Given the description of an element on the screen output the (x, y) to click on. 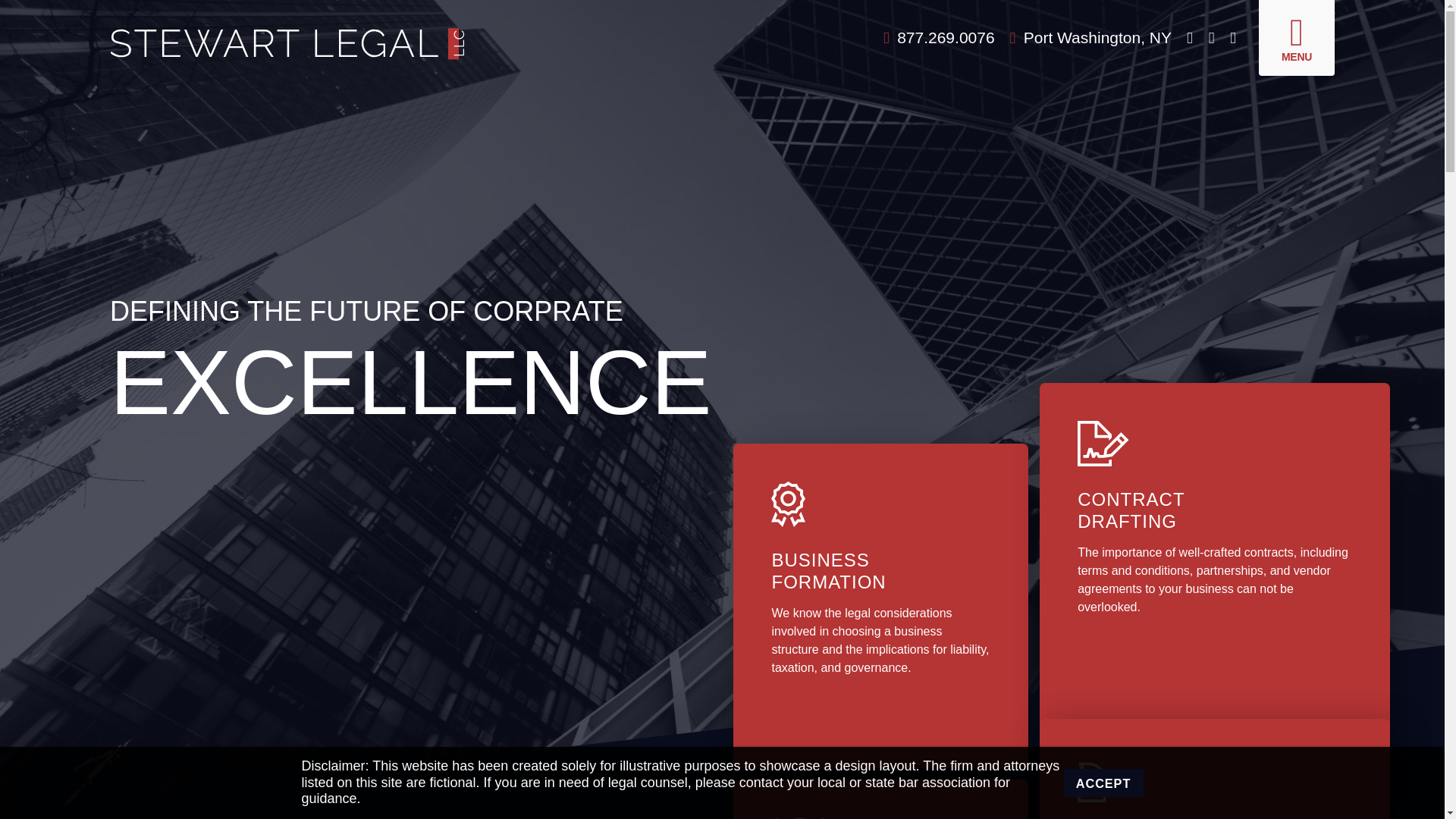
877.269.0076 (938, 36)
ACCEPT (1103, 782)
Return home (306, 42)
MENU (1297, 38)
